Given the description of an element on the screen output the (x, y) to click on. 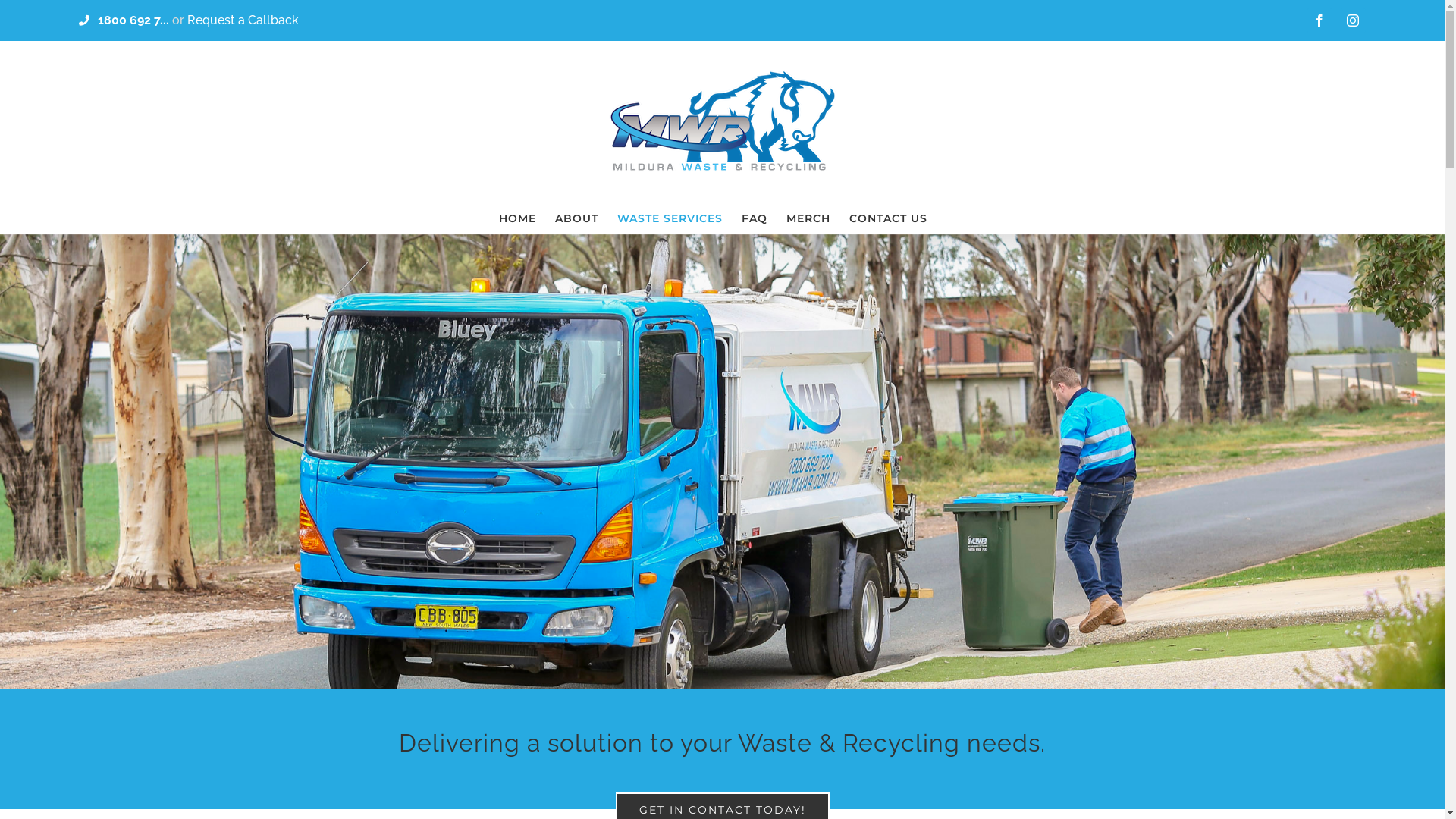
1800 692 7... Element type: text (133, 19)
ABOUT Element type: text (576, 218)
Facebook Element type: text (1319, 20)
FAQ Element type: text (754, 218)
WASTE SERVICES Element type: text (669, 218)
Instagram Element type: text (1352, 20)
Request a Callback Element type: text (242, 19)
CONTACT US Element type: text (888, 218)
HOME Element type: text (517, 218)
MERCH Element type: text (807, 218)
